Given the description of an element on the screen output the (x, y) to click on. 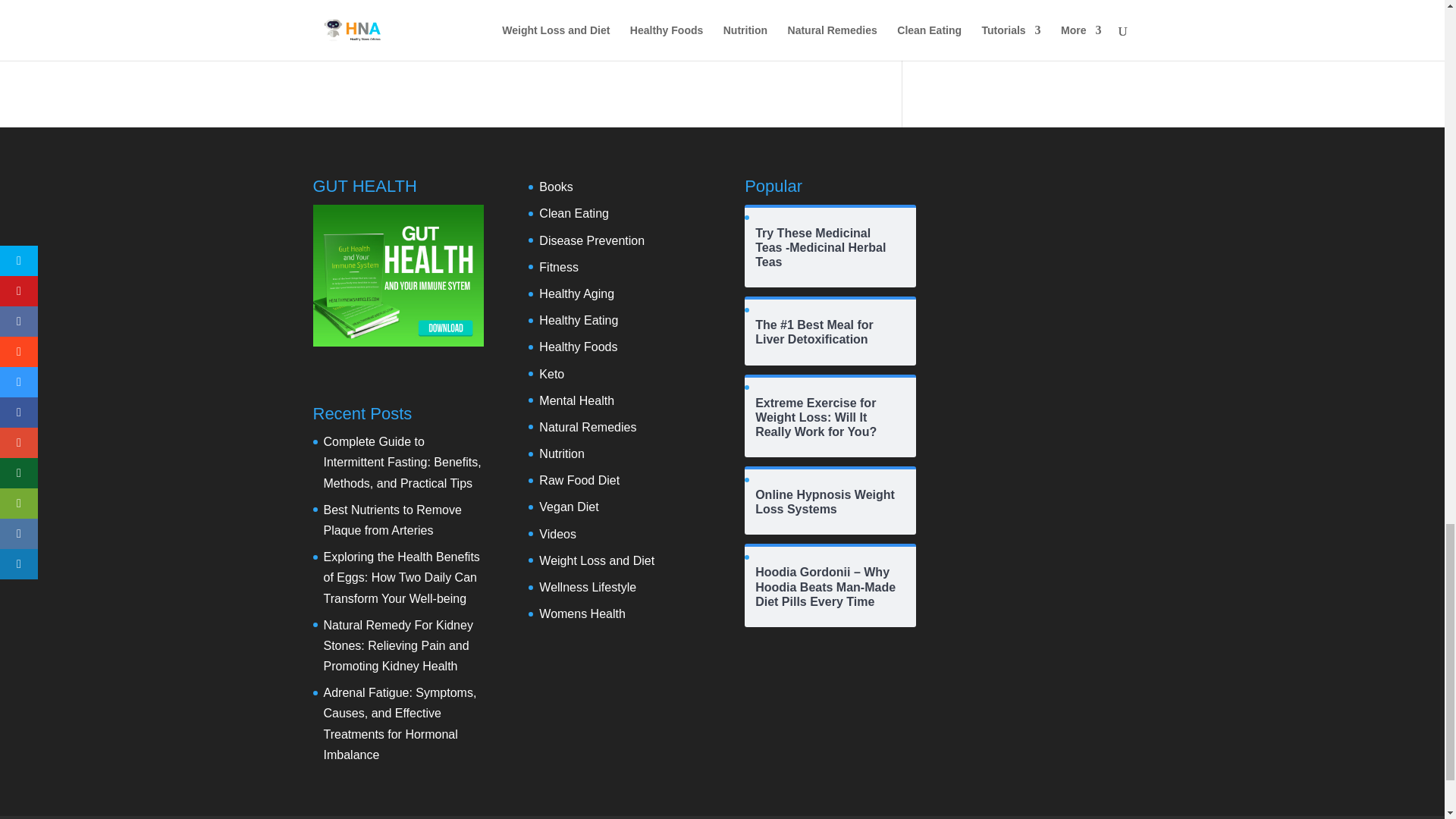
Books (555, 186)
Disease Prevention (591, 240)
Clean Eating (573, 213)
Best Nutrients to Remove Plaque from Arteries (392, 520)
